Given the description of an element on the screen output the (x, y) to click on. 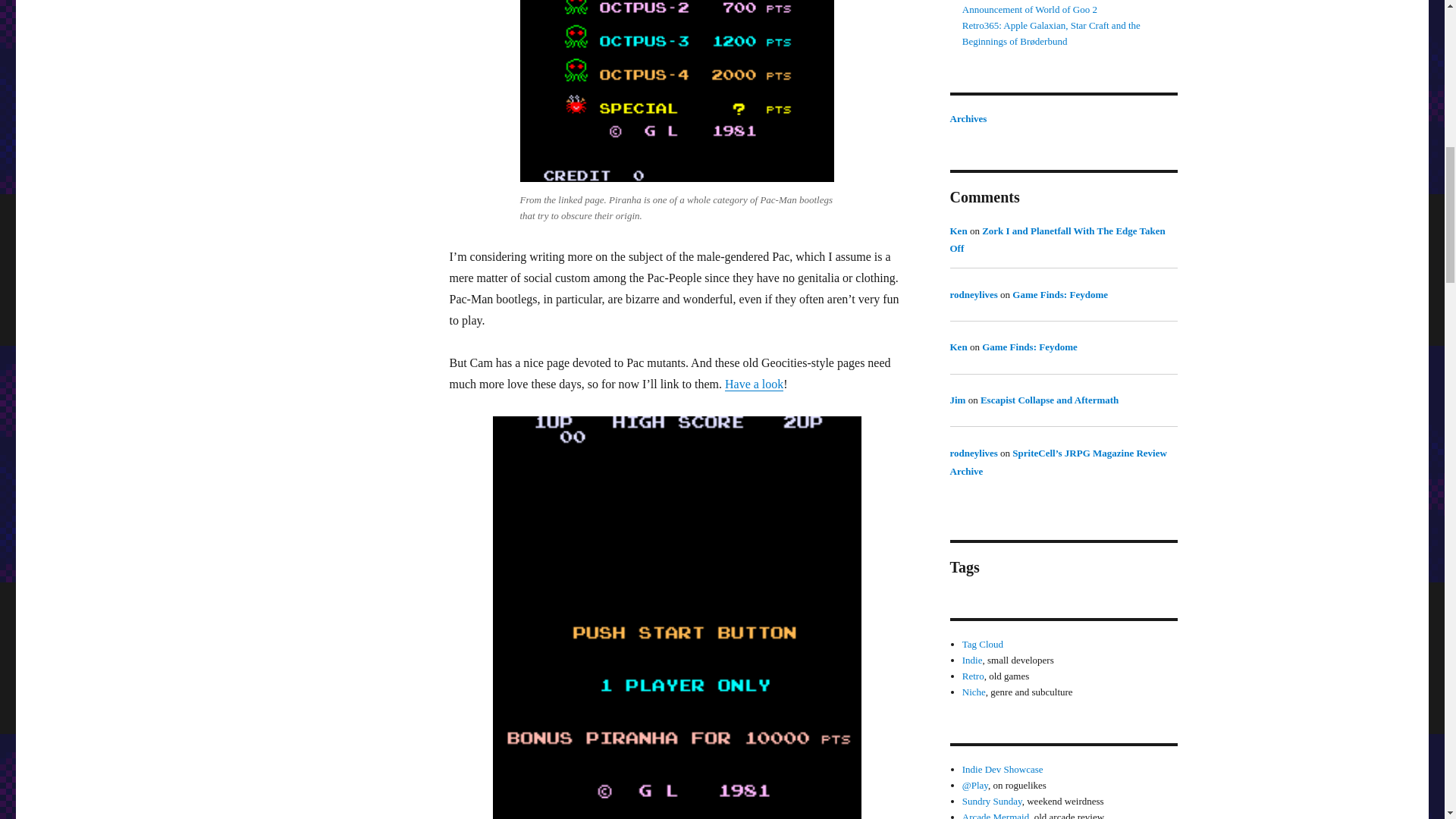
Zork I and Planetfall With The Edge Taken Off (1056, 239)
Archives (968, 118)
Have a look (754, 383)
Ken (957, 230)
Announcement of World of Goo 2 (1029, 9)
rodneylives (973, 293)
